Given the description of an element on the screen output the (x, y) to click on. 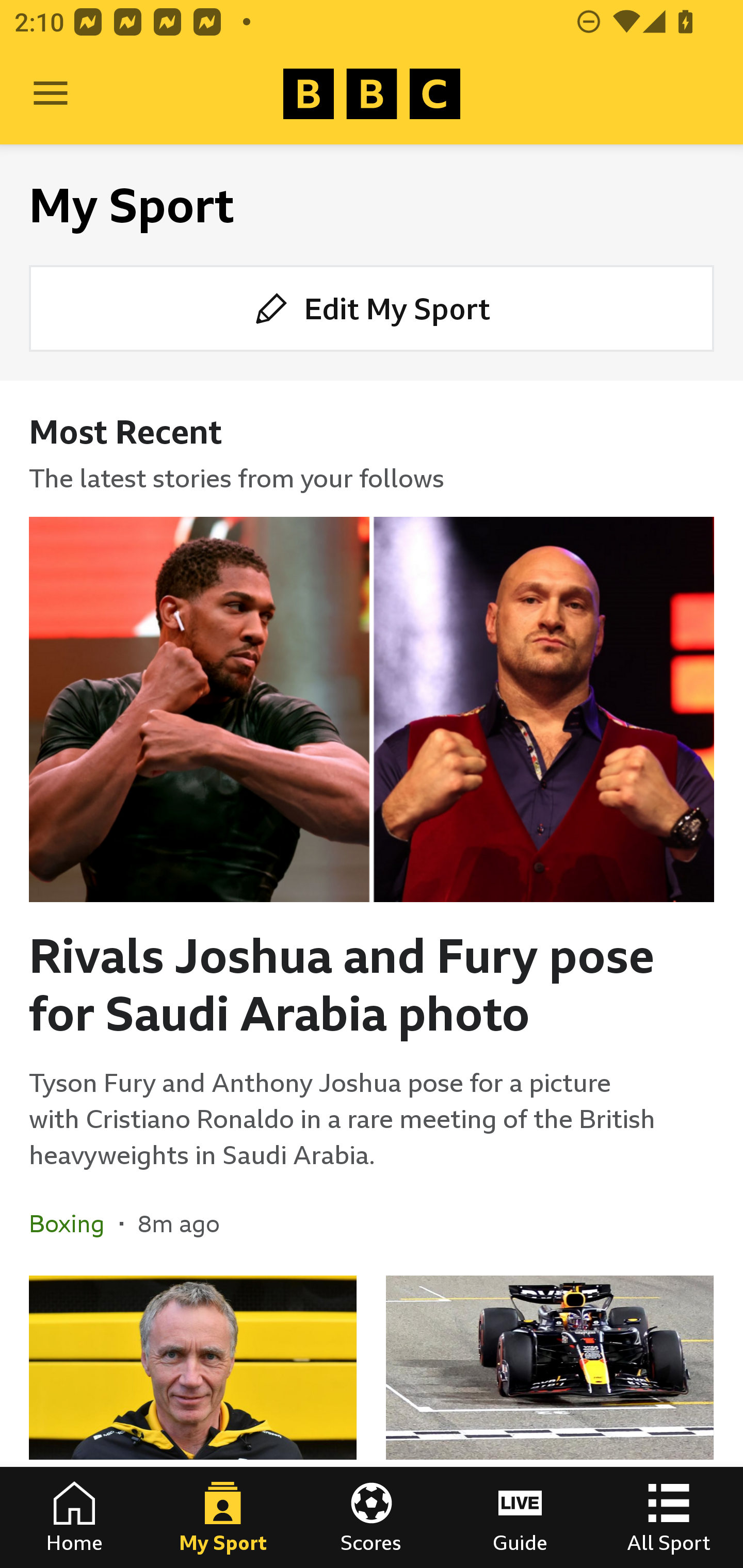
Open Menu (50, 93)
Edit My Sport (371, 307)
Engineer Bell leaves struggling Alpine (192, 1421)
Home (74, 1517)
Scores (371, 1517)
Guide (519, 1517)
All Sport (668, 1517)
